Given the description of an element on the screen output the (x, y) to click on. 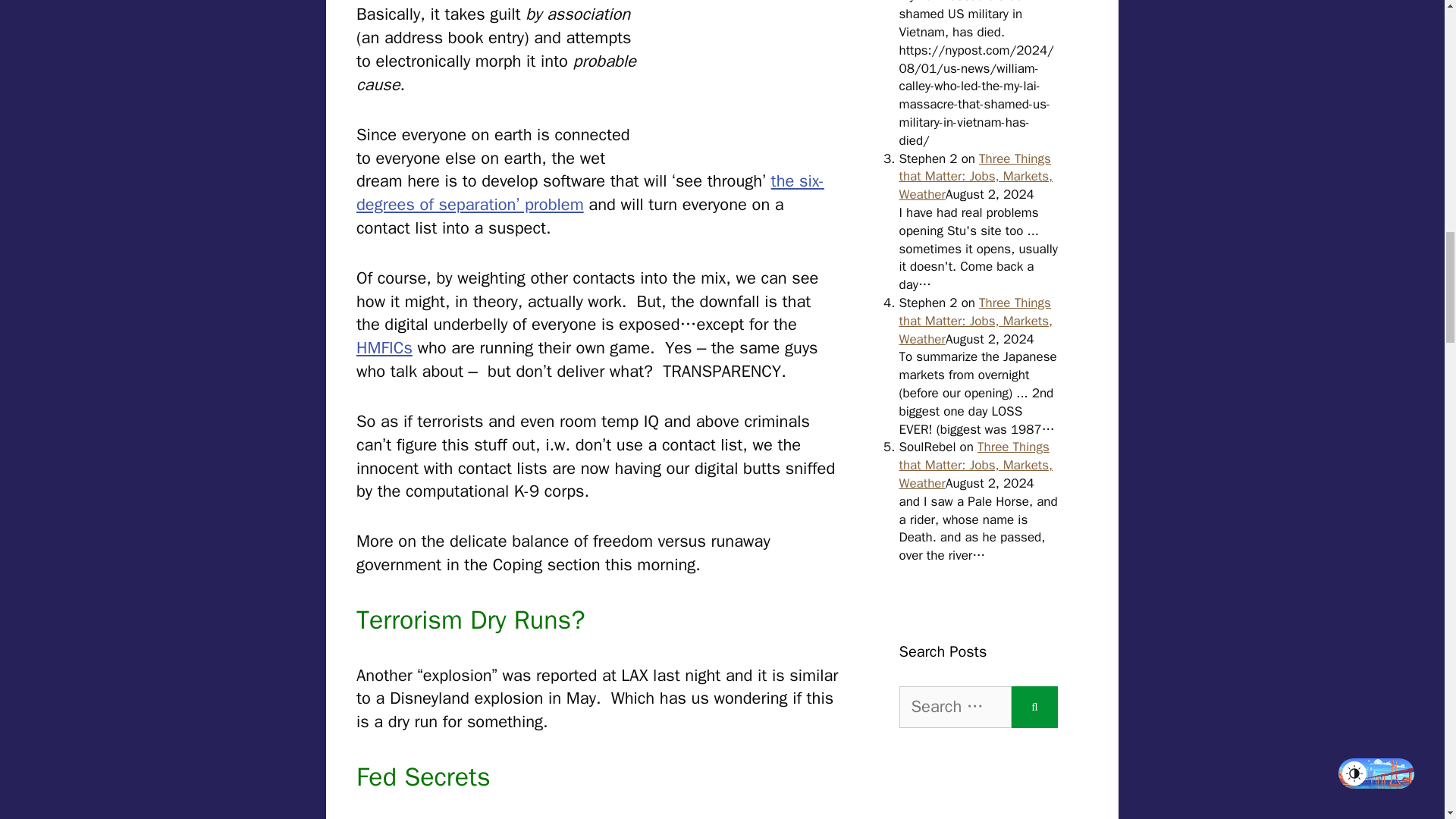
Search for: (955, 707)
